Given the description of an element on the screen output the (x, y) to click on. 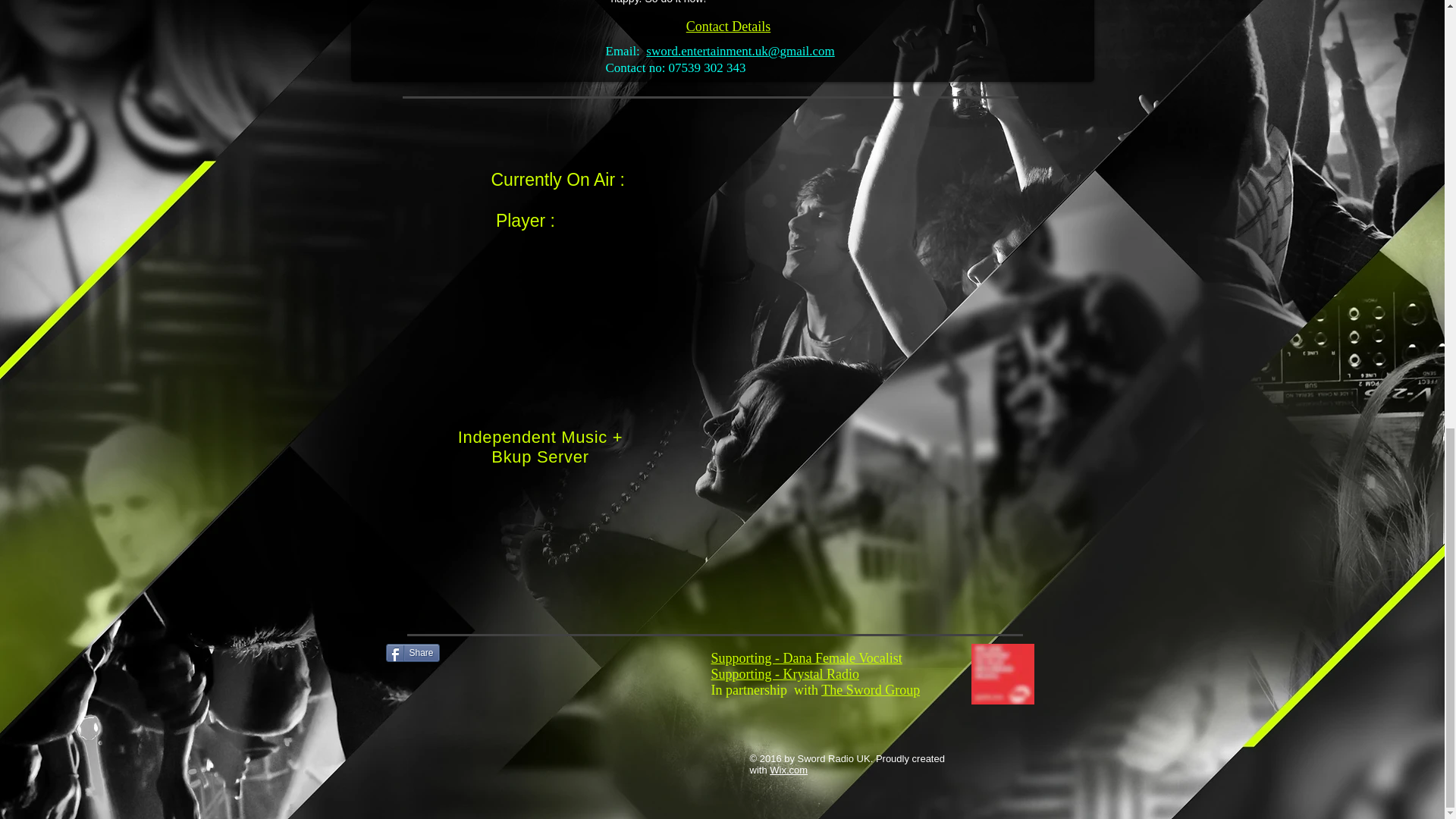
Supporting - Krystal Radio (785, 673)
Supporting - Dana Female Vocalist (806, 657)
Twitter Follow (527, 651)
Share (412, 652)
Wix.com (789, 769)
Share (412, 652)
The Sword Group (870, 689)
